Given the description of an element on the screen output the (x, y) to click on. 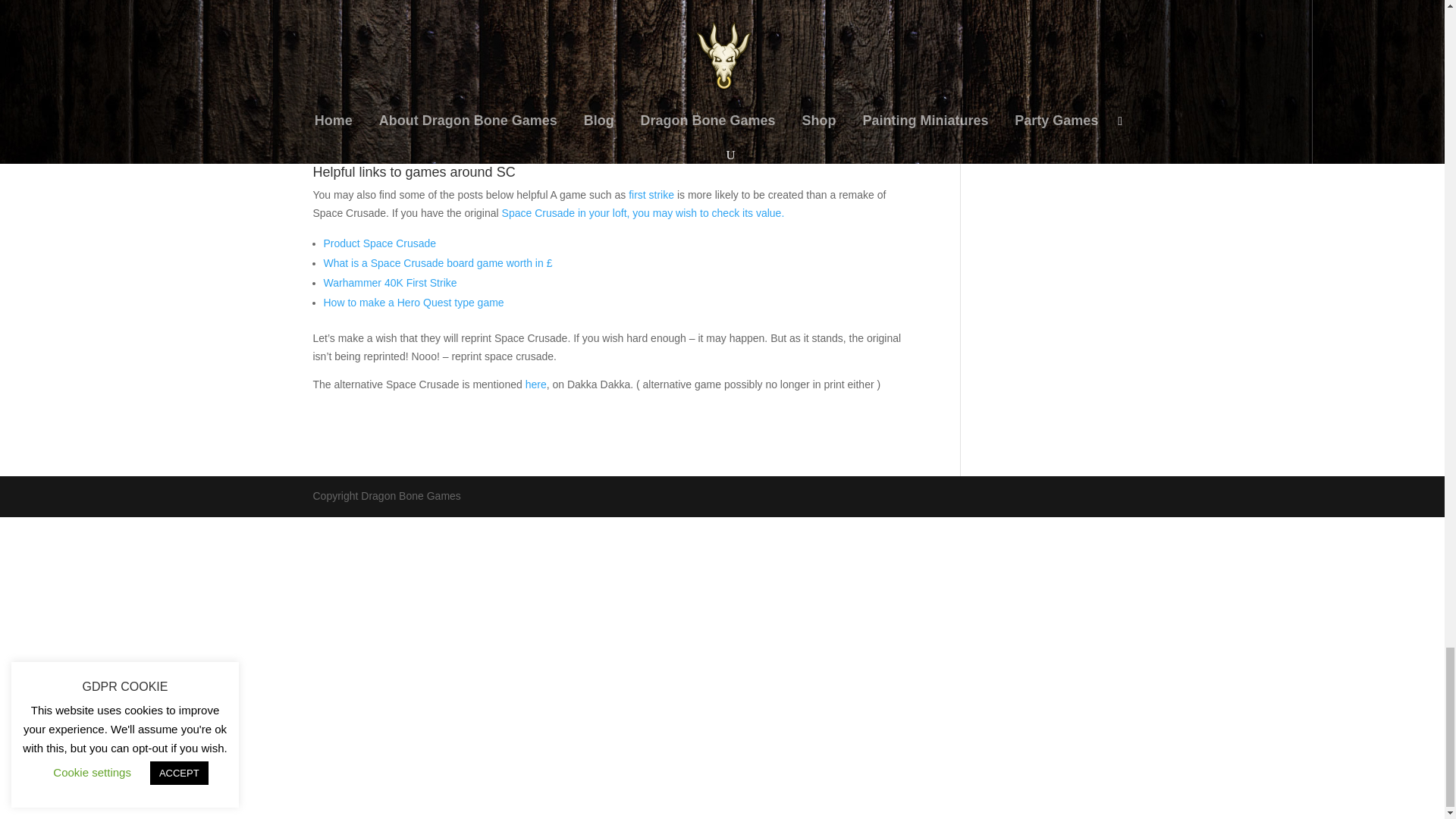
Product Space Crusade (379, 243)
first strike (651, 194)
Space Crusade in your loft, you may wish to check its value. (643, 213)
Warhammer 40K First Strike (390, 282)
How to make a Hero Quest type game (413, 302)
here (536, 384)
